Given the description of an element on the screen output the (x, y) to click on. 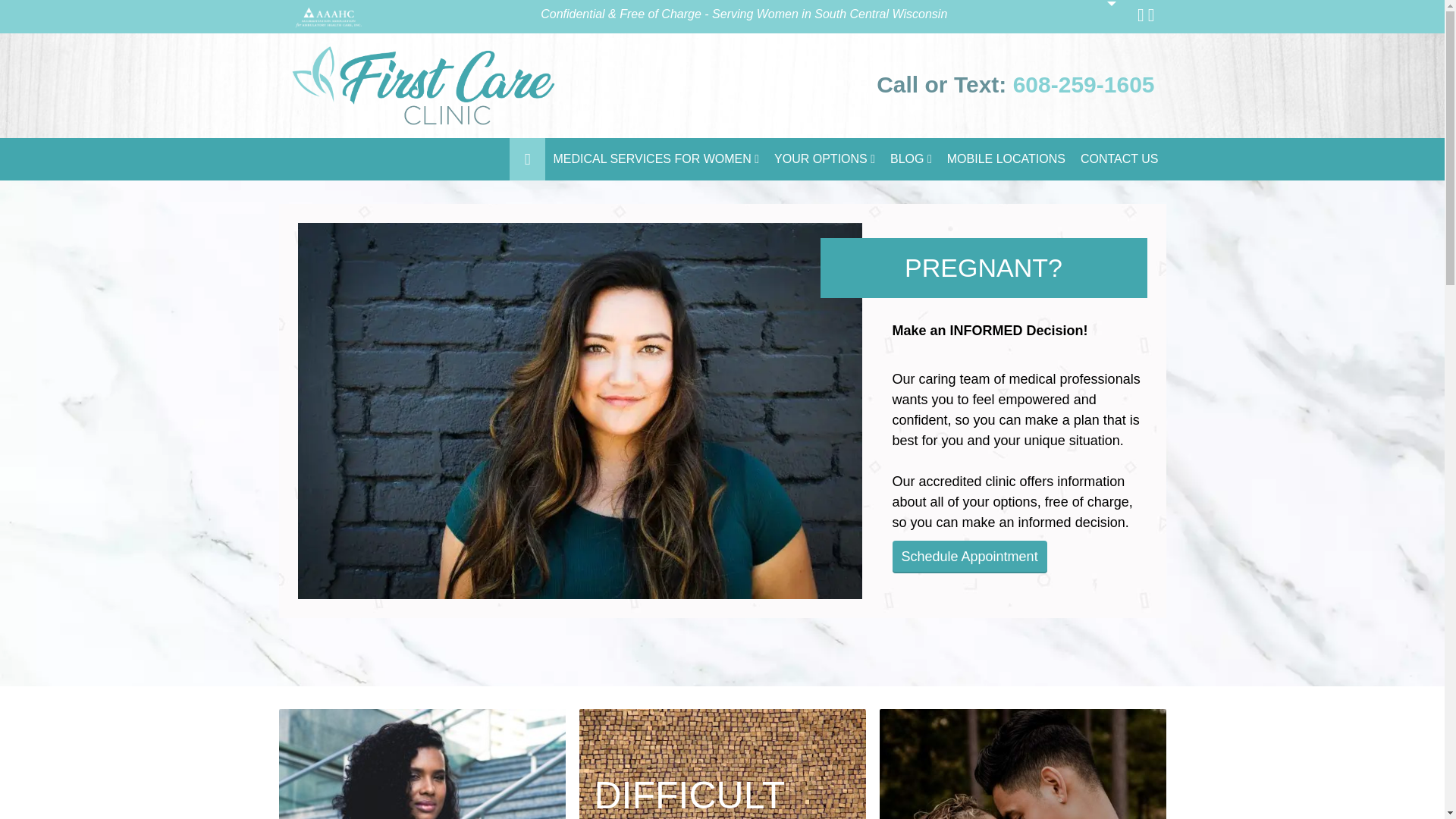
Your Options (824, 159)
YOUR OPTIONS (824, 159)
Schedule Appointment (968, 556)
Contact Us (1119, 159)
MOBILE LOCATIONS (1006, 159)
Blog (910, 159)
CONTACT US (1119, 159)
Medical Services for Women (655, 159)
Mobile Locations (1006, 159)
